Given the description of an element on the screen output the (x, y) to click on. 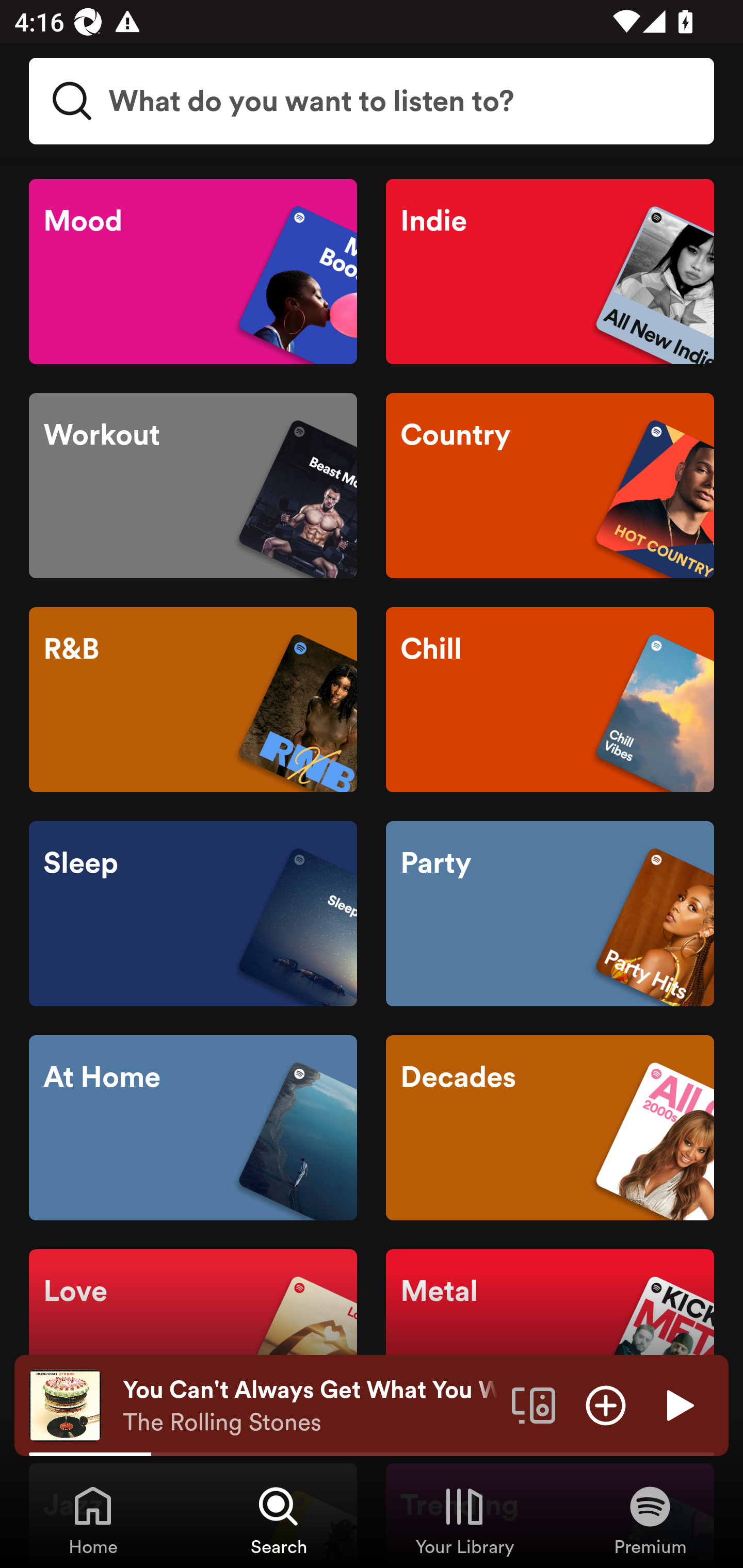
Mood (192, 270)
Indie (549, 270)
Workout (192, 485)
Country (549, 485)
R&B (192, 698)
Chill (549, 698)
Sleep (192, 913)
Party (549, 913)
At Home (192, 1126)
Decades (549, 1126)
Love (192, 1341)
Metal (549, 1341)
The cover art of the currently playing track (64, 1404)
Connect to a device. Opens the devices menu (533, 1404)
Add item (605, 1404)
Play (677, 1404)
Home, Tab 1 of 4 Home Home (92, 1519)
Search, Tab 2 of 4 Search Search (278, 1519)
Your Library, Tab 3 of 4 Your Library Your Library (464, 1519)
Premium, Tab 4 of 4 Premium Premium (650, 1519)
